Given the description of an element on the screen output the (x, y) to click on. 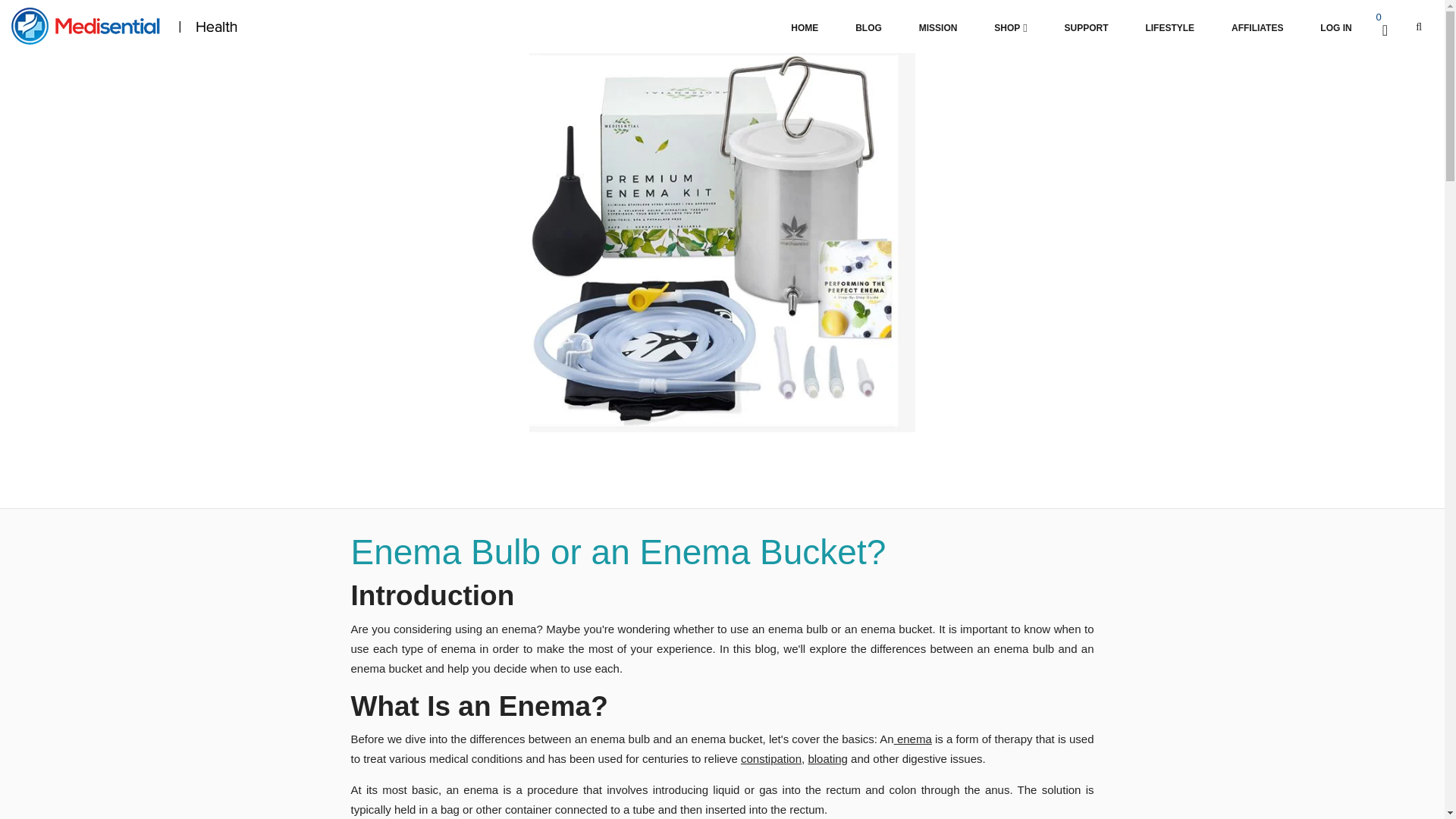
bloating (827, 758)
constipation (771, 758)
AFFILIATES (1256, 28)
enema (913, 738)
